Given the description of an element on the screen output the (x, y) to click on. 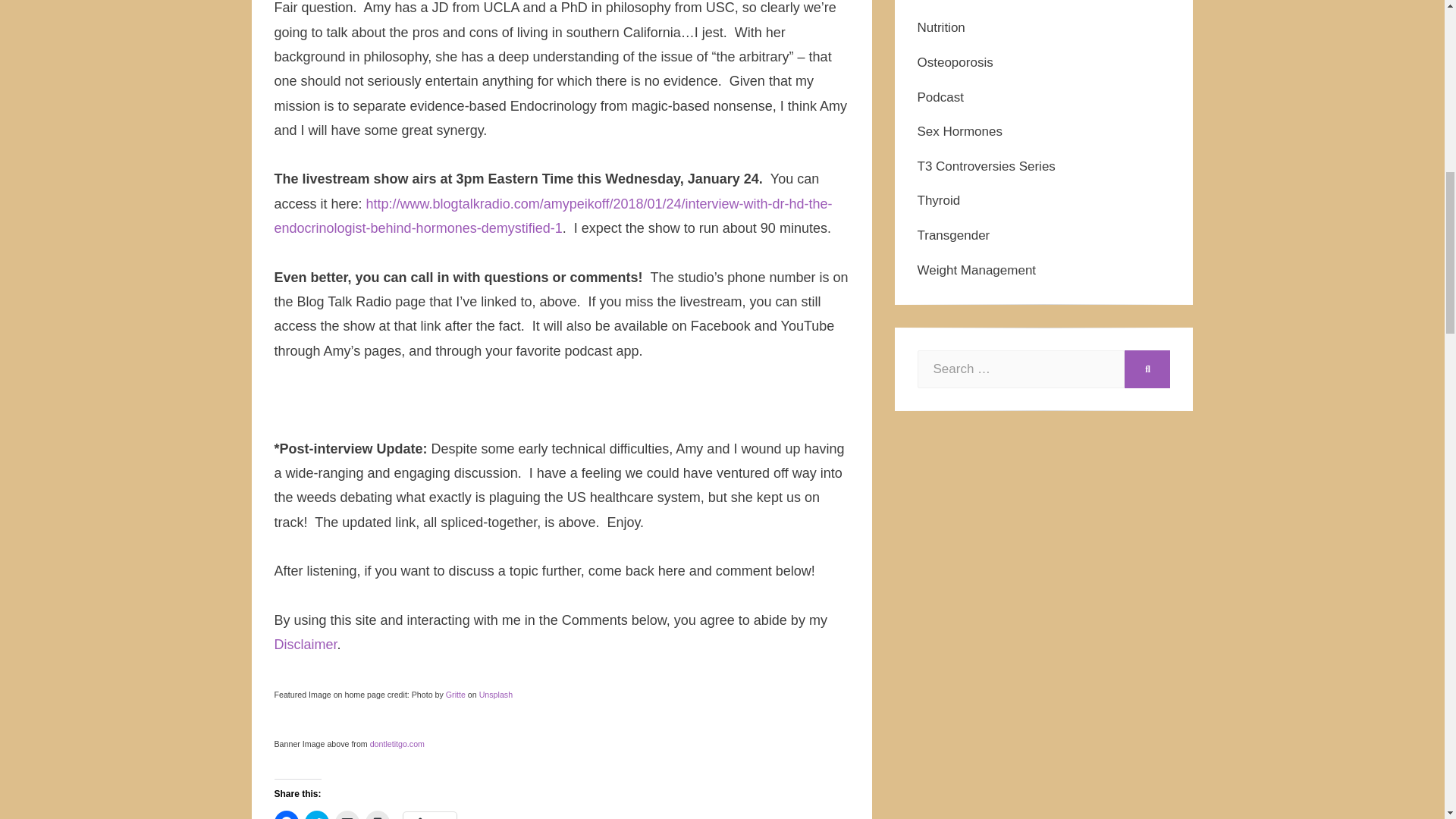
Click to share on Twitter (316, 814)
Click to print (377, 814)
Disclaimer (306, 644)
Click to share on Facebook (286, 814)
More (430, 815)
Search for: (1021, 369)
Gritte (455, 694)
dontletitgo.com (397, 743)
Click to email a link to a friend (346, 814)
Unsplash (495, 694)
